Given the description of an element on the screen output the (x, y) to click on. 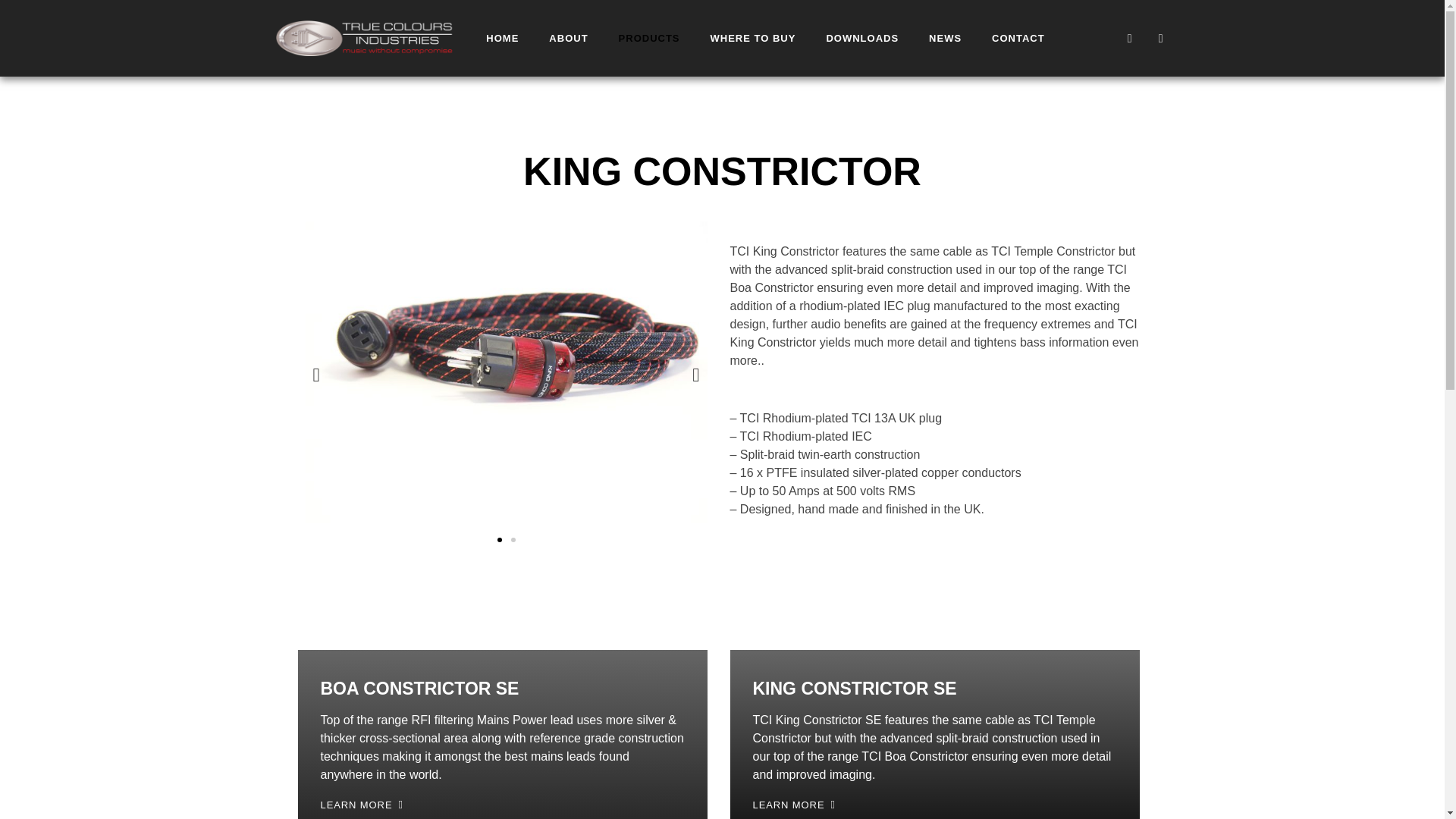
PRODUCTS (649, 38)
HOME (502, 38)
ABOUT (568, 38)
